Given the description of an element on the screen output the (x, y) to click on. 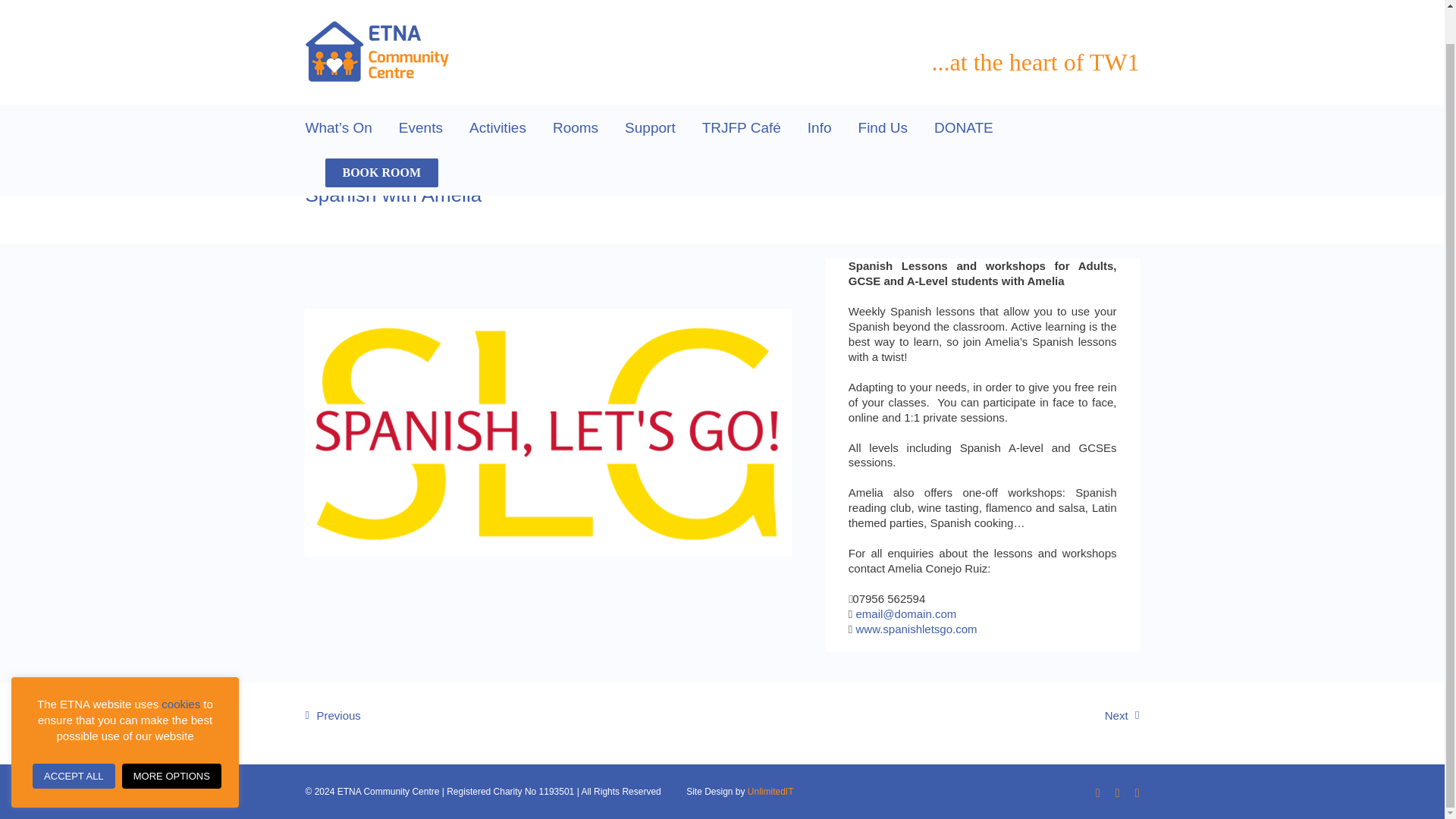
Activities (496, 126)
Events (420, 126)
Rooms (575, 126)
Support (649, 126)
